Given the description of an element on the screen output the (x, y) to click on. 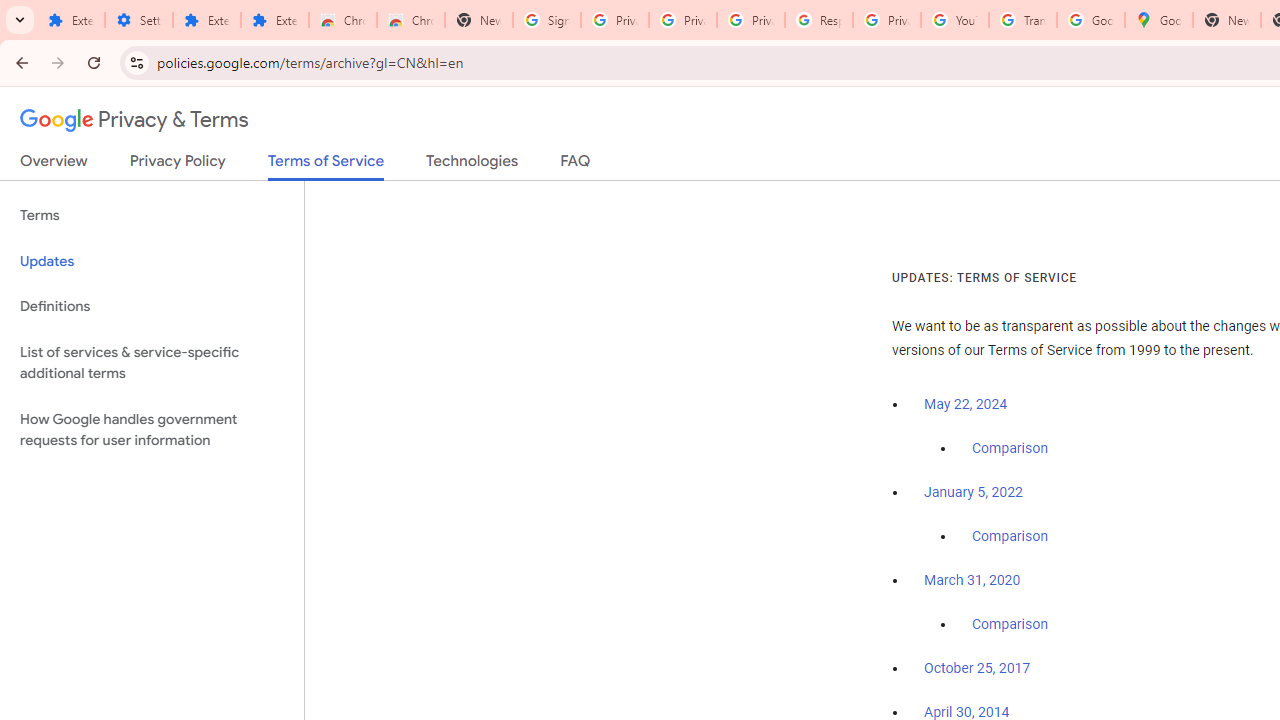
October 25, 2017 (977, 669)
New Tab (479, 20)
Chrome Web Store - Themes (411, 20)
Extensions (70, 20)
